Given the description of an element on the screen output the (x, y) to click on. 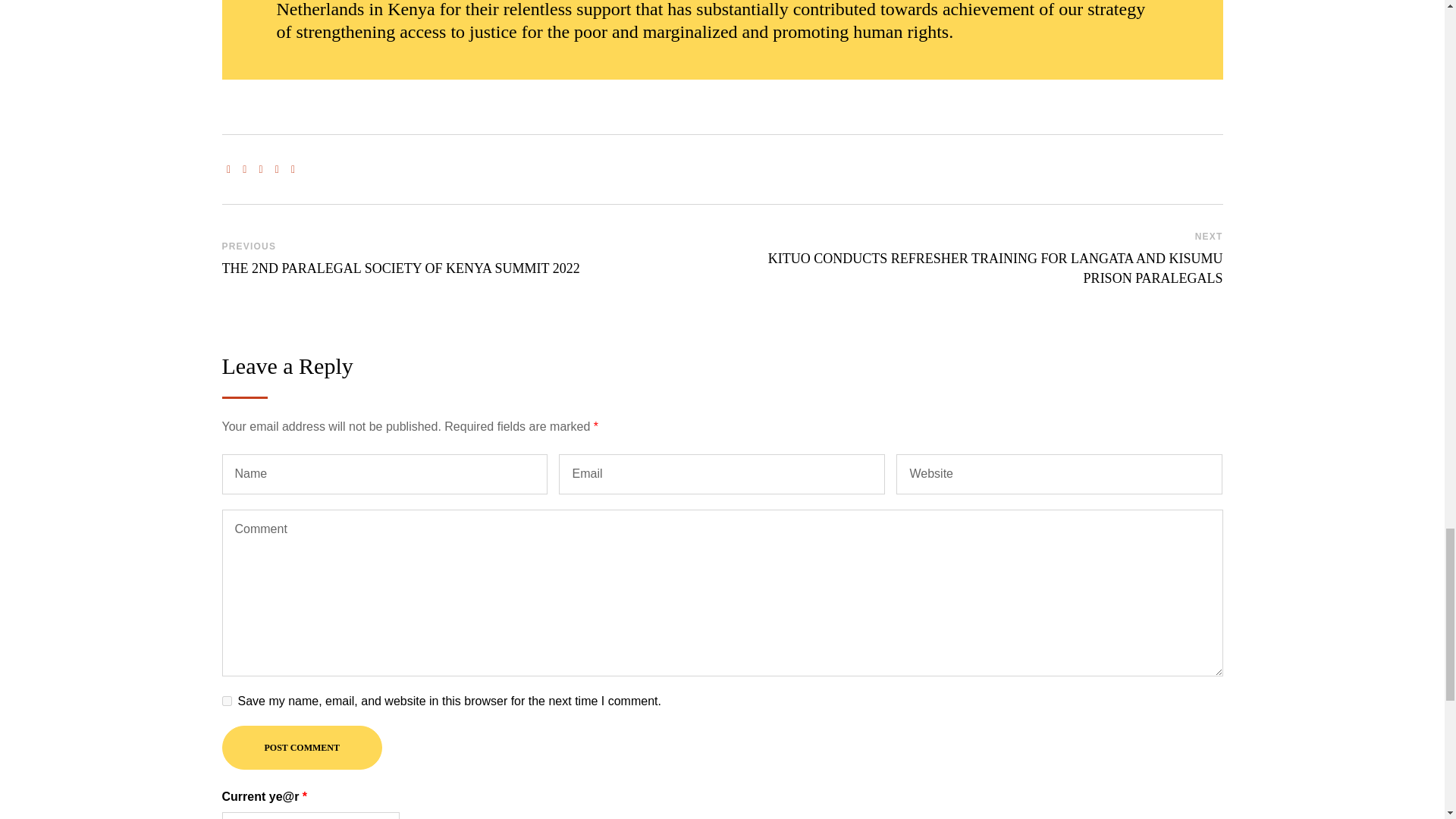
yes (226, 700)
7.3.1 (309, 815)
Post Comment (301, 747)
